Given the description of an element on the screen output the (x, y) to click on. 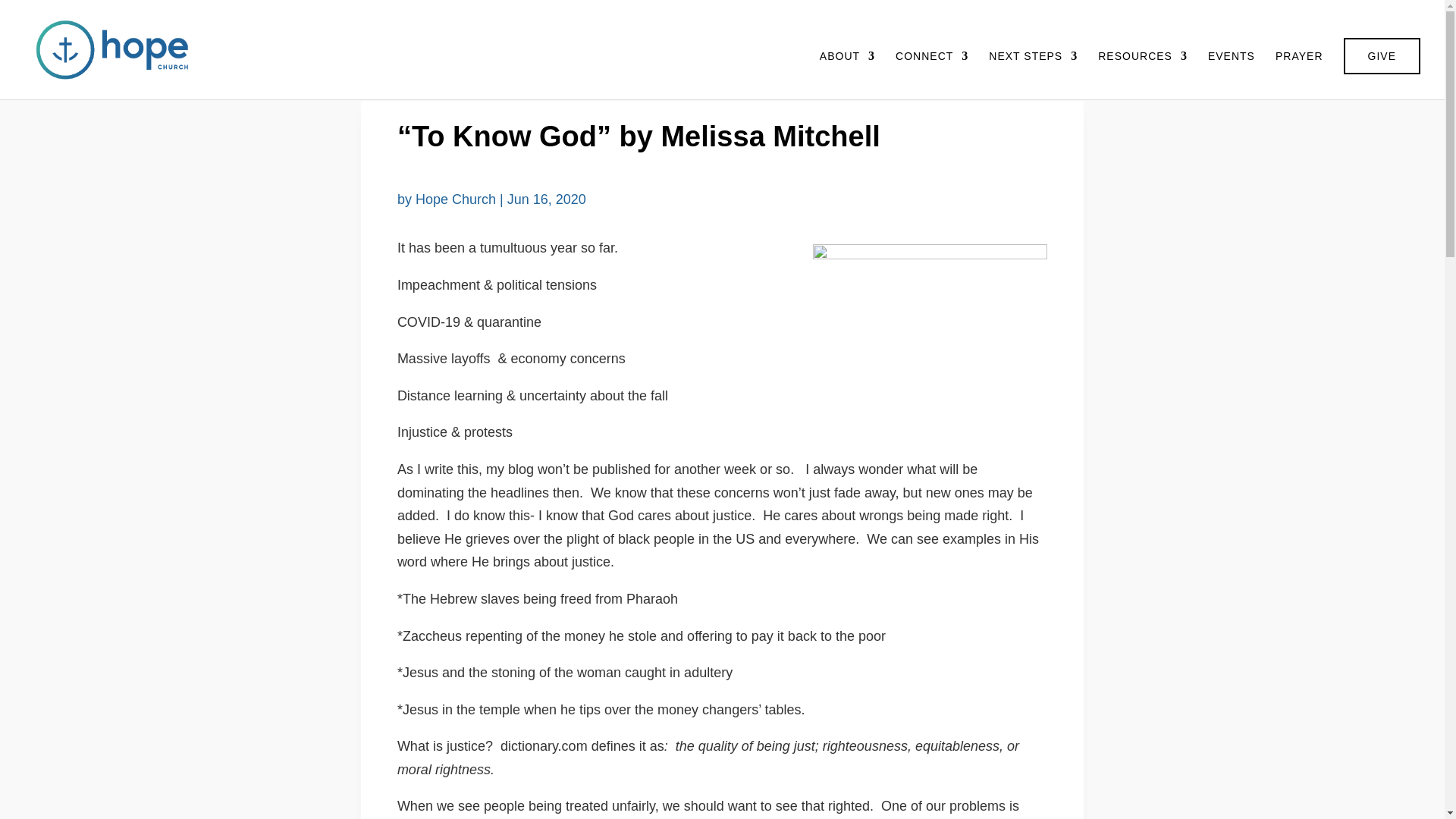
GIVE (1381, 55)
CONNECT (931, 74)
PRAYER (1299, 74)
NEXT STEPS (1032, 74)
Posts by Hope Church (455, 199)
RESOURCES (1142, 74)
EVENTS (1231, 74)
ABOUT (847, 74)
